Given the description of an element on the screen output the (x, y) to click on. 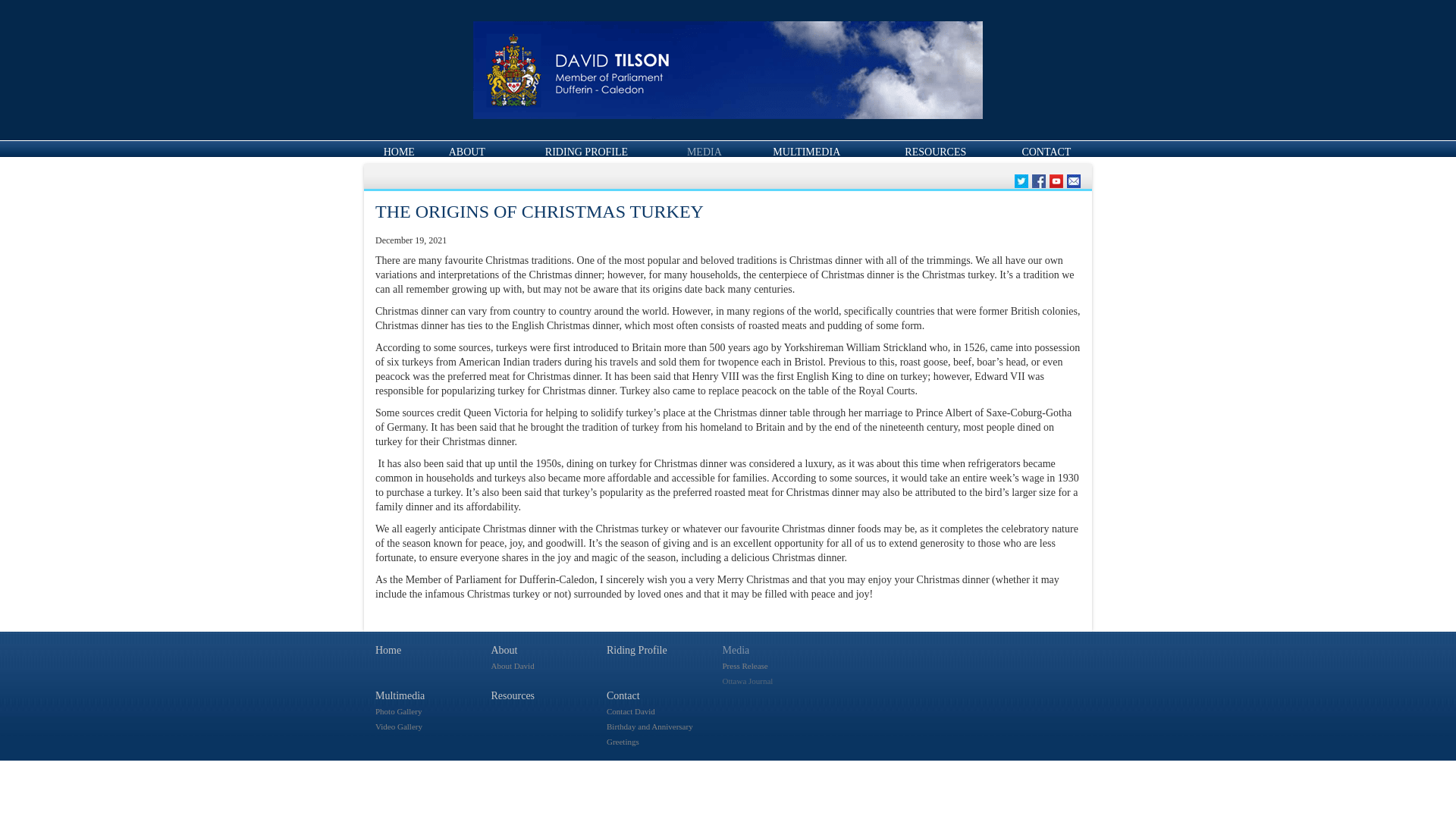
MEDIA (704, 152)
CONTACT (1046, 152)
ABOUT (466, 152)
HOME (399, 152)
RIDING PROFILE (585, 152)
MULTIMEDIA (806, 152)
RESOURCES (935, 152)
